Given the description of an element on the screen output the (x, y) to click on. 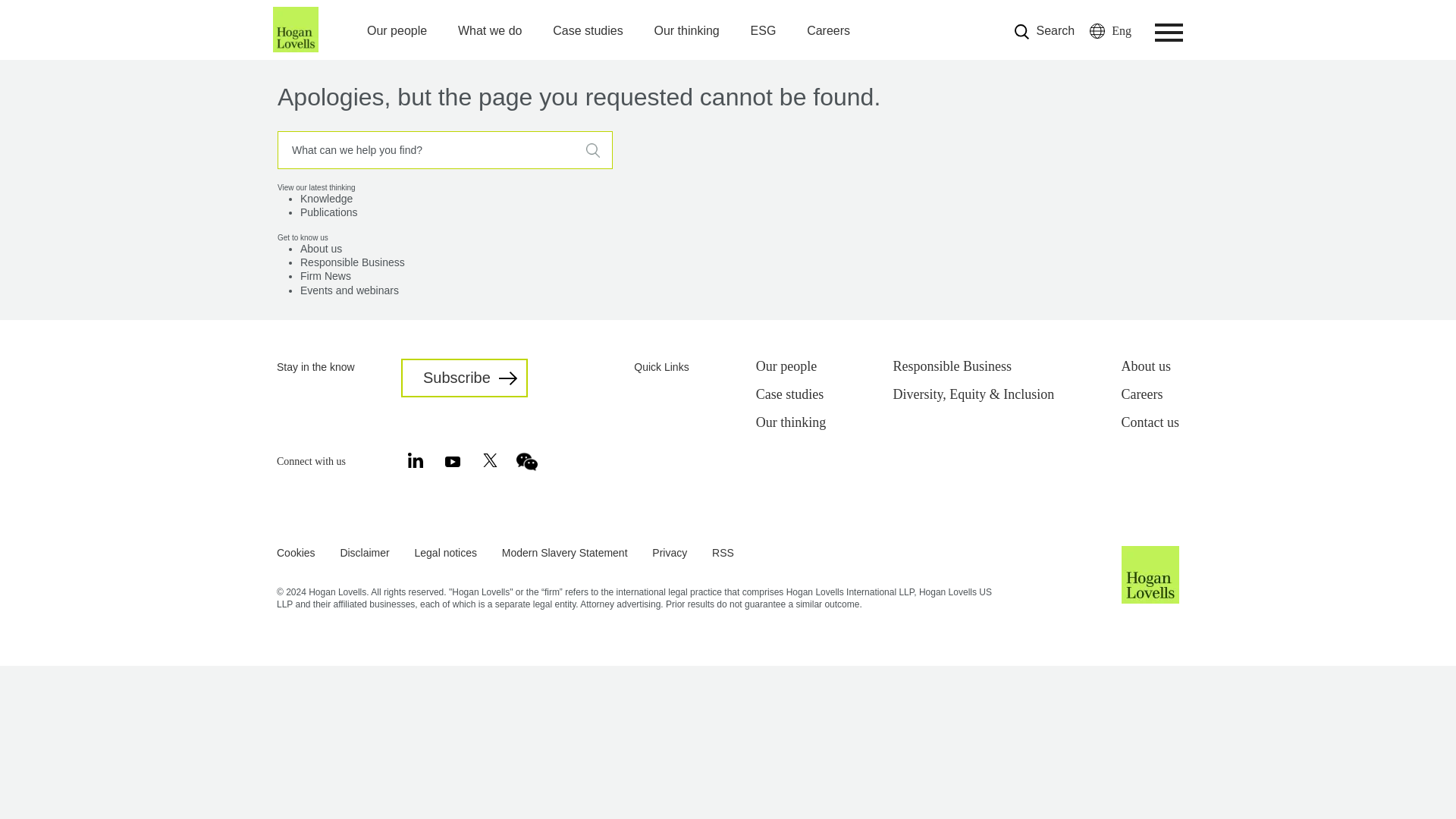
youtube (452, 462)
Hogan Lovells Logo (295, 49)
Hl logo (1150, 601)
ESG (763, 31)
Linkedin (415, 465)
Our thinking (686, 31)
Case studies (588, 31)
Responsible Business (351, 262)
What we do (489, 17)
What can we help you find? (444, 149)
Careers (828, 31)
Publications (328, 212)
Events and webinars (348, 290)
Our people (396, 10)
Wechat (526, 468)
